Given the description of an element on the screen output the (x, y) to click on. 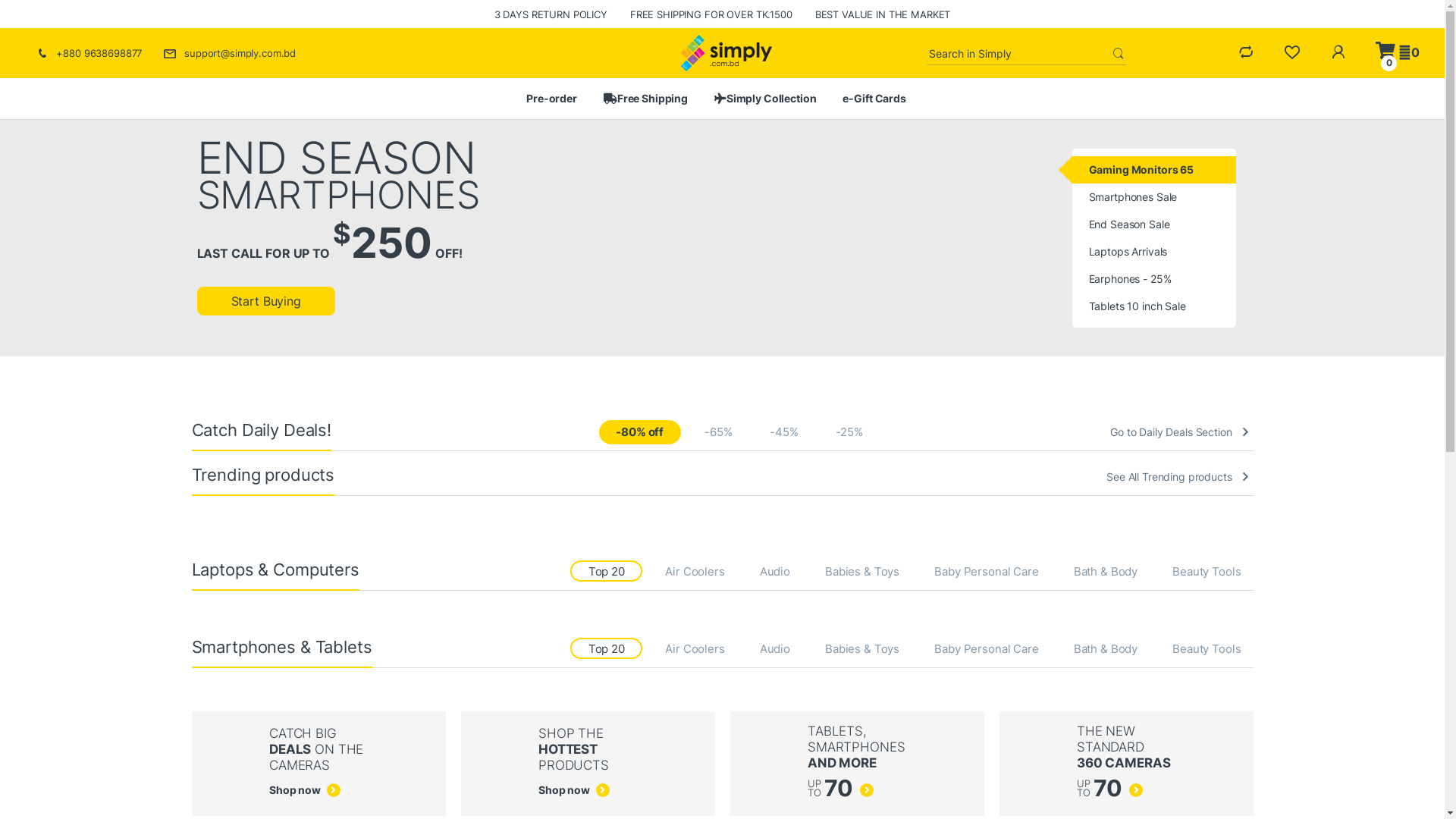
Audio Element type: text (774, 648)
FREE SHIPPING FOR OVER TK.1500 Element type: text (711, 14)
Laptops Arrivals Element type: text (1154, 251)
-45% Element type: text (784, 432)
Beauty Tools Element type: text (1206, 571)
Bath & Body Element type: text (1105, 648)
Beauty Tools Element type: text (1206, 648)
Babies & Toys Element type: text (861, 571)
Start Buying Element type: text (266, 300)
Simply Collection Element type: text (765, 98)
-80% off Element type: text (639, 432)
Air Coolers Element type: text (694, 648)
3 DAYS RETURN POLICY Element type: text (550, 14)
Earphones - 25% Element type: text (1154, 278)
Gaming Monitors 65 Element type: text (1154, 169)
See All Trending products Element type: text (1179, 476)
support@simply.com.bd Element type: text (229, 53)
-25% Element type: text (848, 432)
-65% Element type: text (718, 432)
CATCH BIG
DEALS ON THE CAMERAS
Shop now Element type: text (318, 763)
Free Shipping Element type: text (645, 98)
Air Coolers Element type: text (694, 571)
BEST VALUE IN THE MARKET Element type: text (882, 14)
THE NEW STANDARD
360 CAMERAS
UPTO70 Element type: text (1125, 763)
Bath & Body Element type: text (1105, 571)
SHOP THE HOTTEST PRODUCTS
Shop now Element type: text (587, 763)
Pre-order Element type: text (551, 98)
End Season Sale Element type: text (1154, 224)
Babies & Toys Element type: text (861, 648)
TABLETS, SMARTPHONES AND MORE
UPTO70 Element type: text (856, 763)
Tablets 10 inch Sale Element type: text (1154, 306)
Baby Personal Care Element type: text (986, 571)
+880 9638698877 Element type: text (87, 53)
Smartphones Sale Element type: text (1154, 196)
Go to Daily Deals Section Element type: text (1181, 436)
Audio Element type: text (774, 571)
Baby Personal Care Element type: text (986, 648)
e-Gift Cards Element type: text (873, 98)
